Given the description of an element on the screen output the (x, y) to click on. 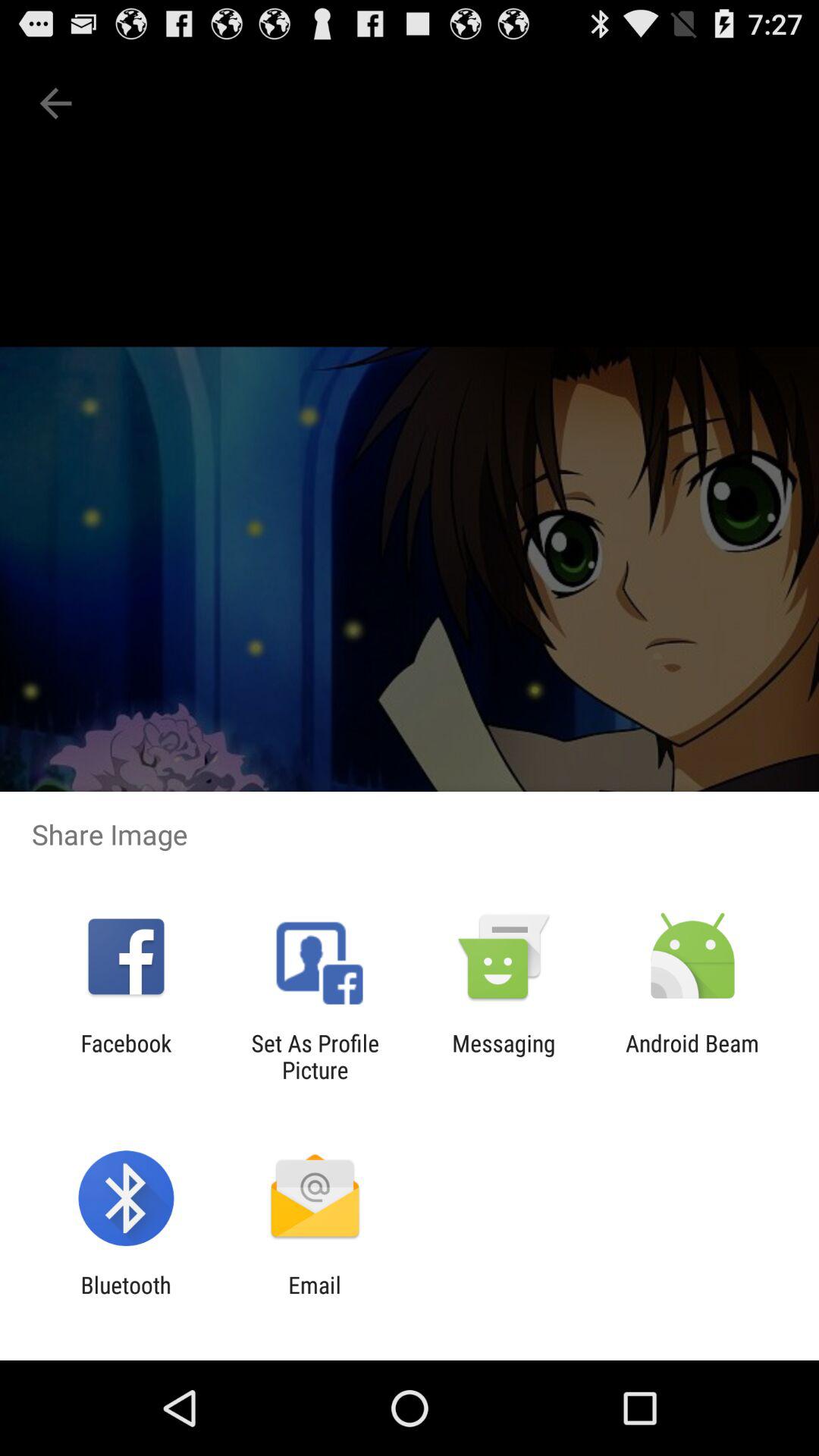
choose icon next to messaging icon (692, 1056)
